Given the description of an element on the screen output the (x, y) to click on. 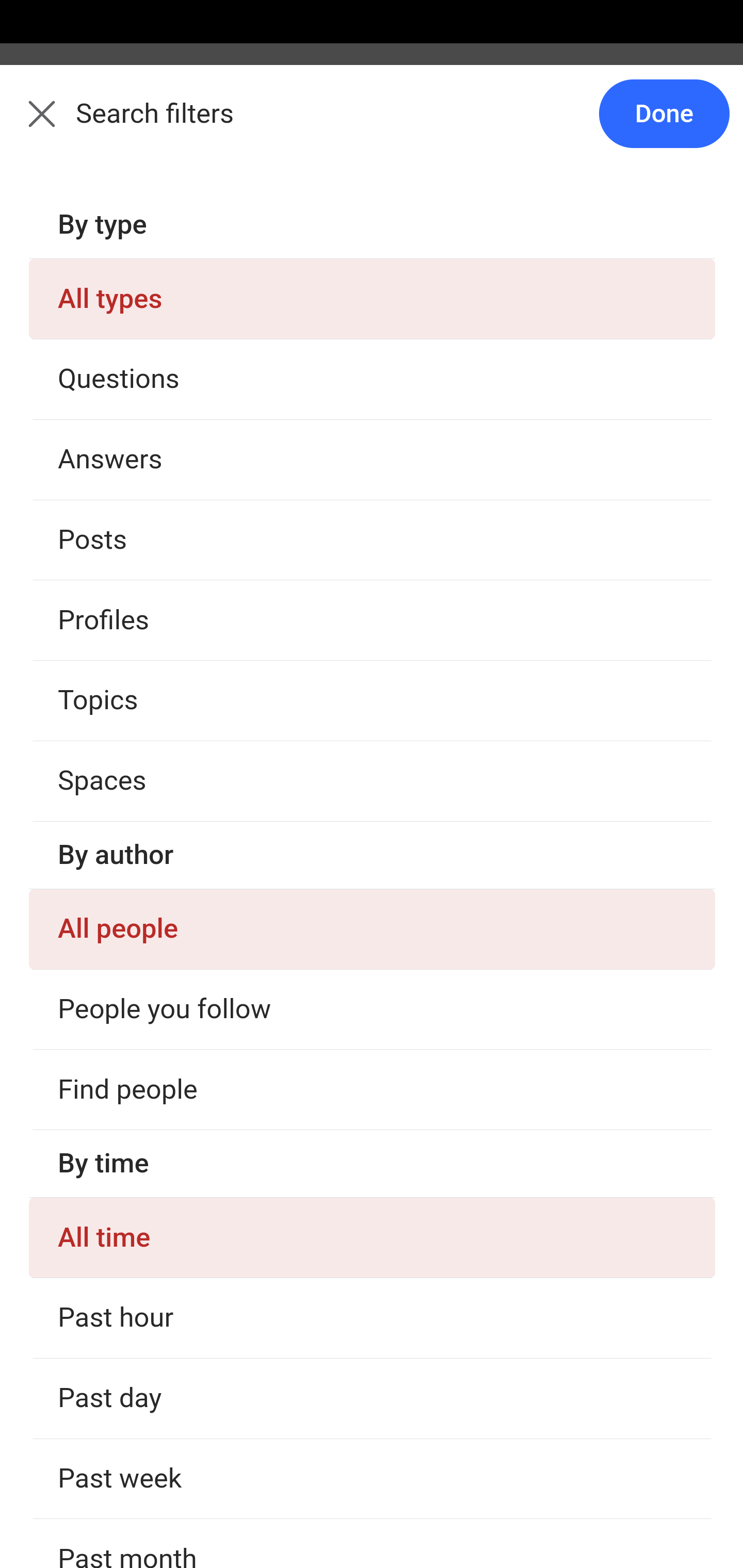
Back Search (371, 125)
Answer (125, 387)
1.1K answers 1.1K  answers (95, 1163)
Answer (125, 1220)
Answer (125, 1499)
